Given the description of an element on the screen output the (x, y) to click on. 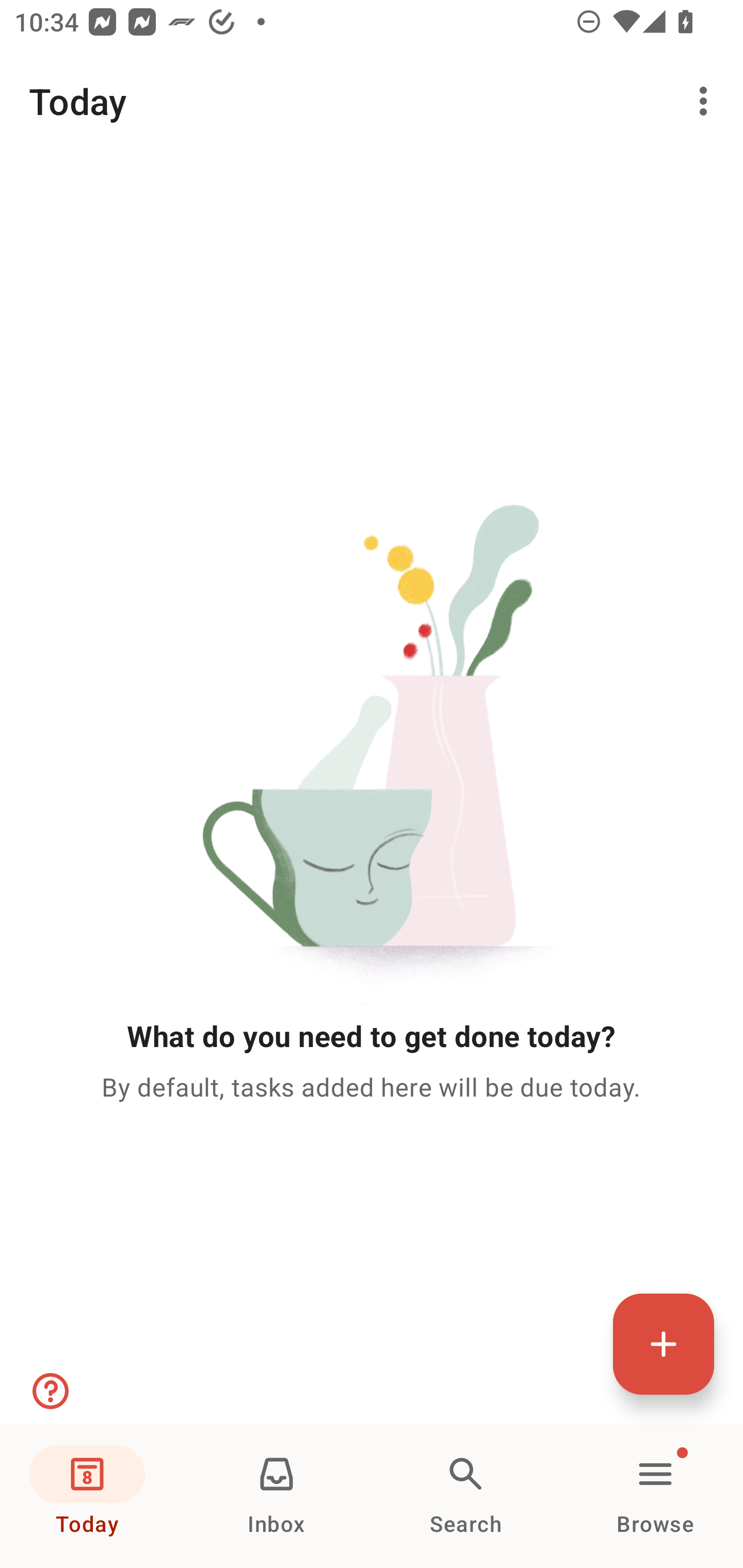
Today More options (371, 100)
More options (706, 101)
Quick add (663, 1343)
How to plan your day (48, 1390)
Inbox (276, 1495)
Search (465, 1495)
Browse (655, 1495)
